Given the description of an element on the screen output the (x, y) to click on. 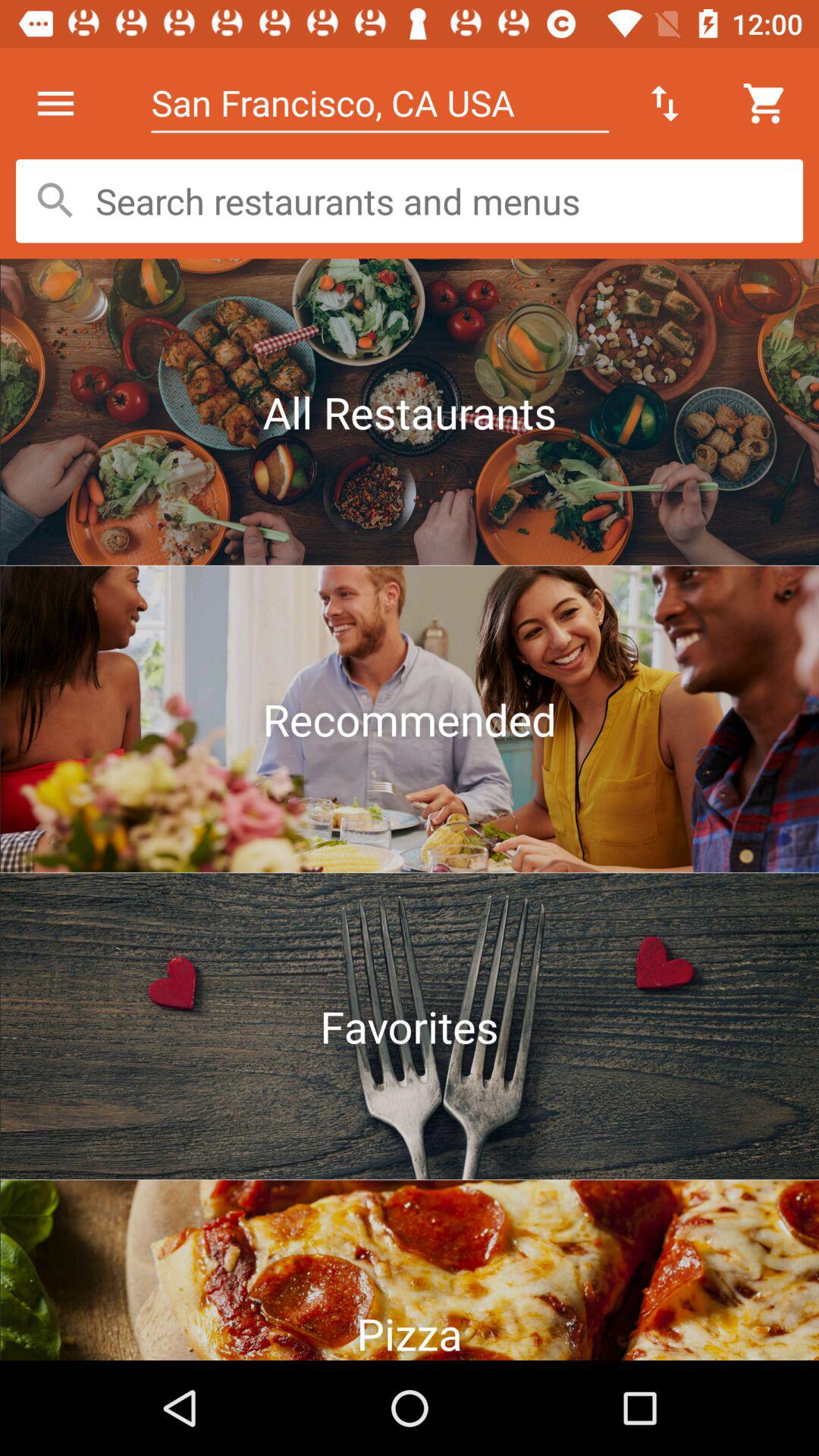
search for (409, 200)
